Given the description of an element on the screen output the (x, y) to click on. 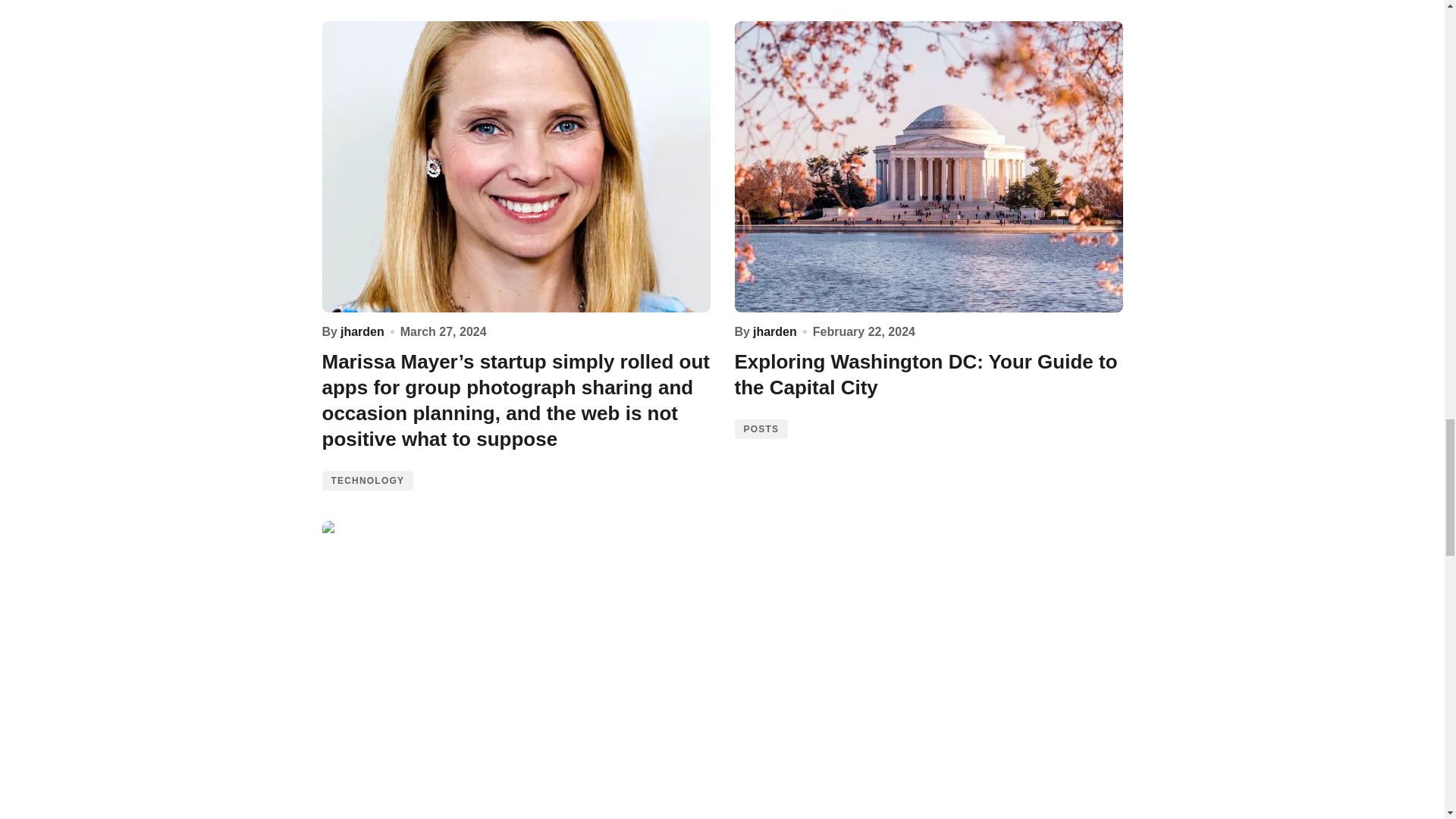
Exploring Washington DC: Your Guide to the Capital City (927, 166)
jharden (774, 331)
Best Internet Providers in Roseville, California (515, 666)
